Given the description of an element on the screen output the (x, y) to click on. 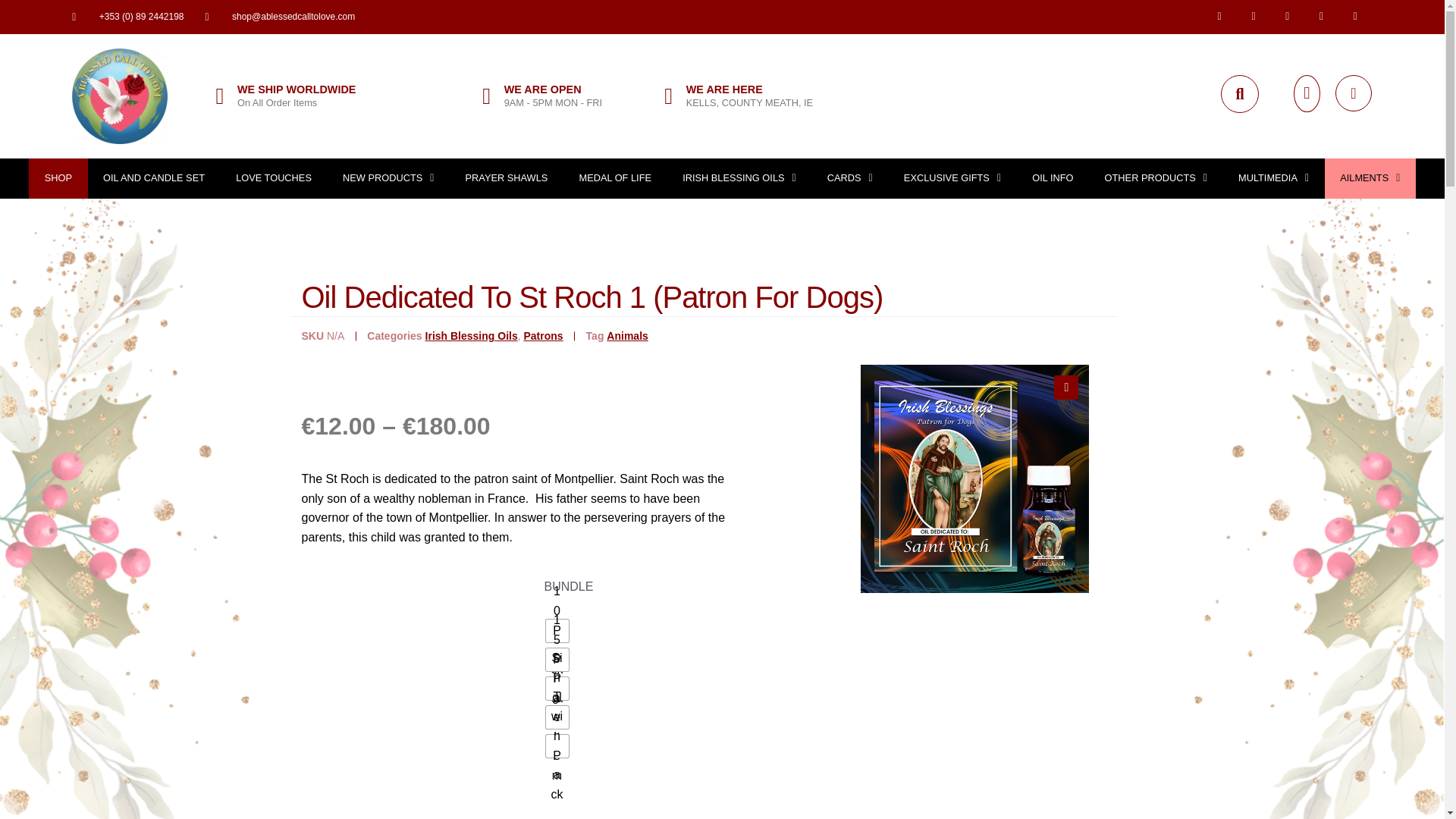
MEDAL OF LIFE (614, 178)
Twin Pack (557, 745)
IRISH BLESSING OILS (739, 178)
Single Item (557, 716)
NEW PRODUCTS (388, 178)
15 Pack (557, 659)
OIL AND CANDLE SET (154, 178)
5 Pack (557, 688)
CARDS (849, 178)
PRAYER SHAWLS (506, 178)
10 Pack (557, 630)
LOVE TOUCHES (274, 178)
EXCLUSIVE GIFTS (952, 178)
SHOP (58, 178)
